Given the description of an element on the screen output the (x, y) to click on. 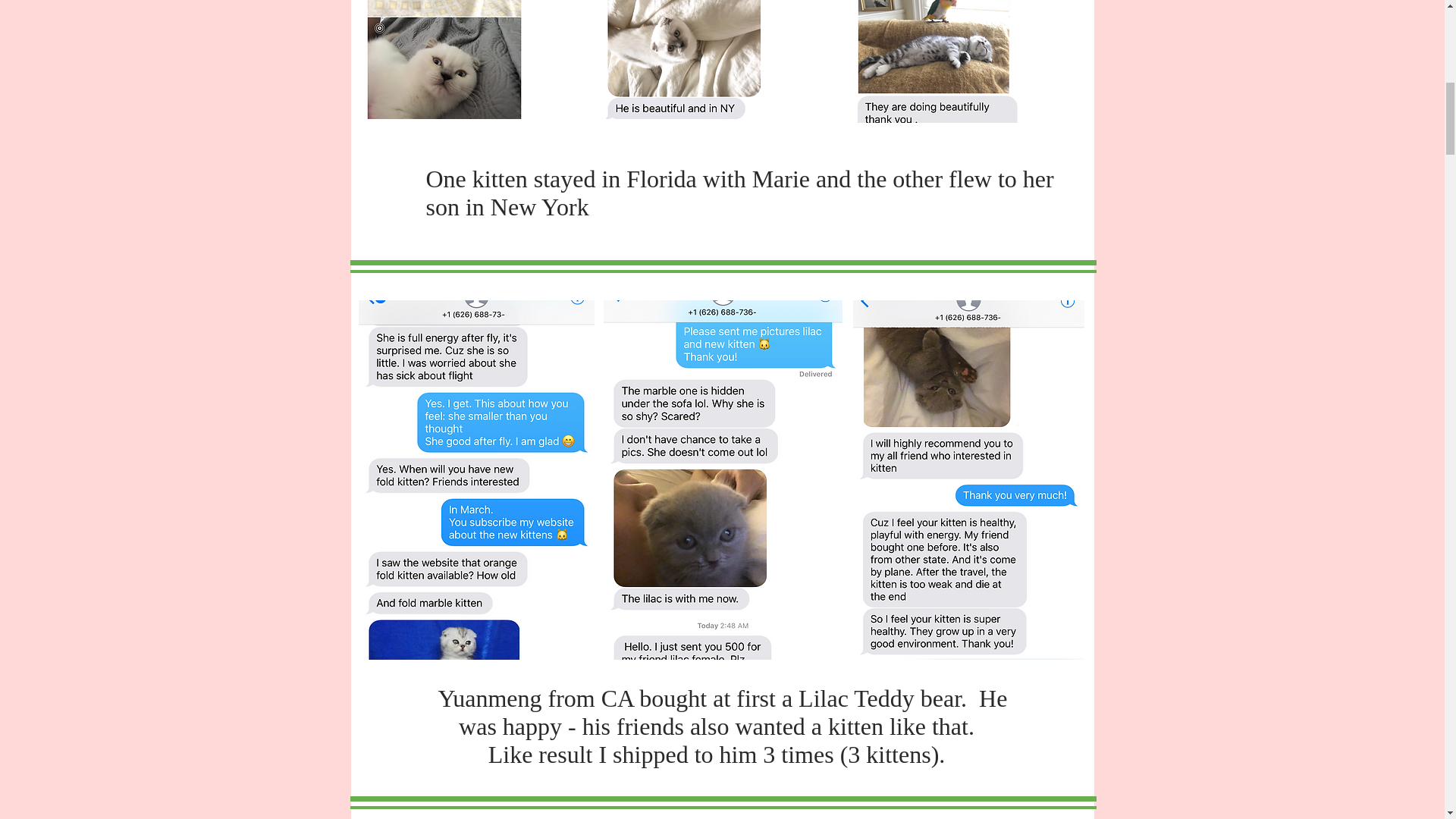
3.png (965, 61)
1.PNG (472, 59)
18.PNG (715, 59)
